Given the description of an element on the screen output the (x, y) to click on. 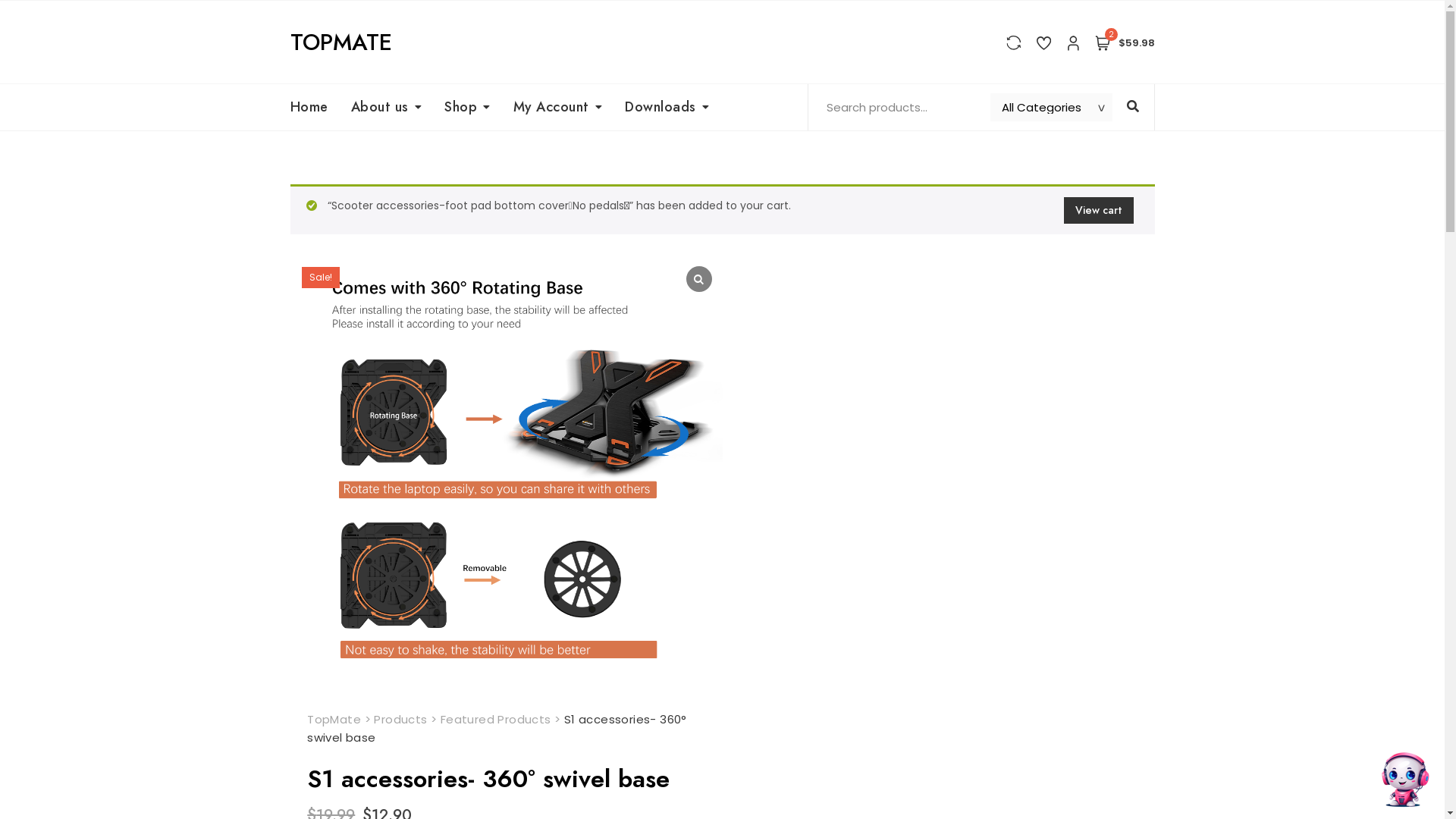
About us Element type: text (386, 107)
Home Element type: text (313, 107)
My Account Element type: text (558, 107)
2
$59.98 Element type: text (1124, 41)
TopMate Element type: text (333, 719)
TOPMATE Element type: text (340, 41)
Featured Products Element type: text (495, 719)
View cart Element type: text (1097, 210)
Shop Element type: text (467, 107)
Downloads Element type: text (666, 107)
Products Element type: text (399, 719)
